Given the description of an element on the screen output the (x, y) to click on. 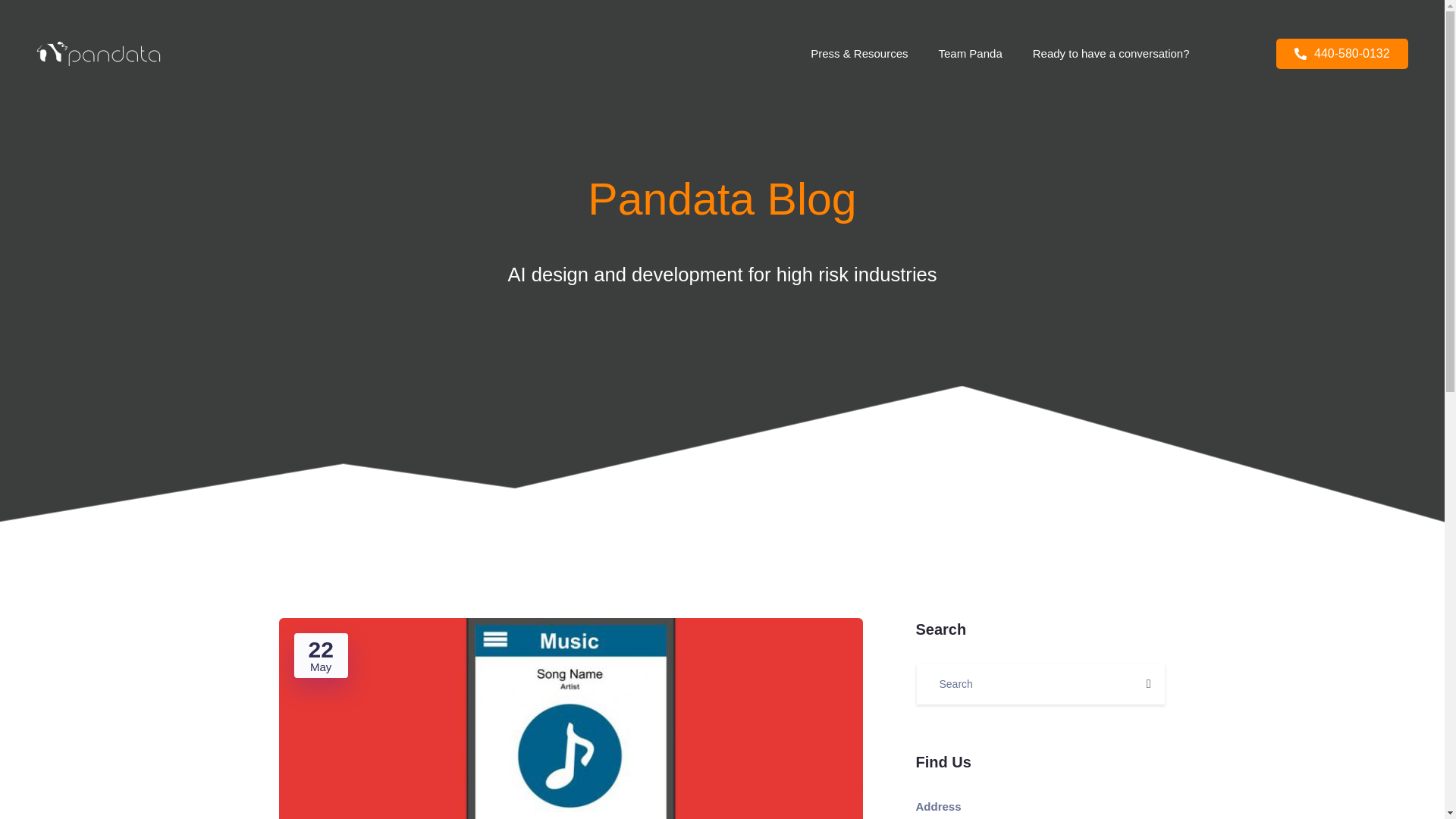
Team Panda (970, 53)
Ready to have a conversation? (1111, 53)
440-580-0132 (1341, 53)
